Given the description of an element on the screen output the (x, y) to click on. 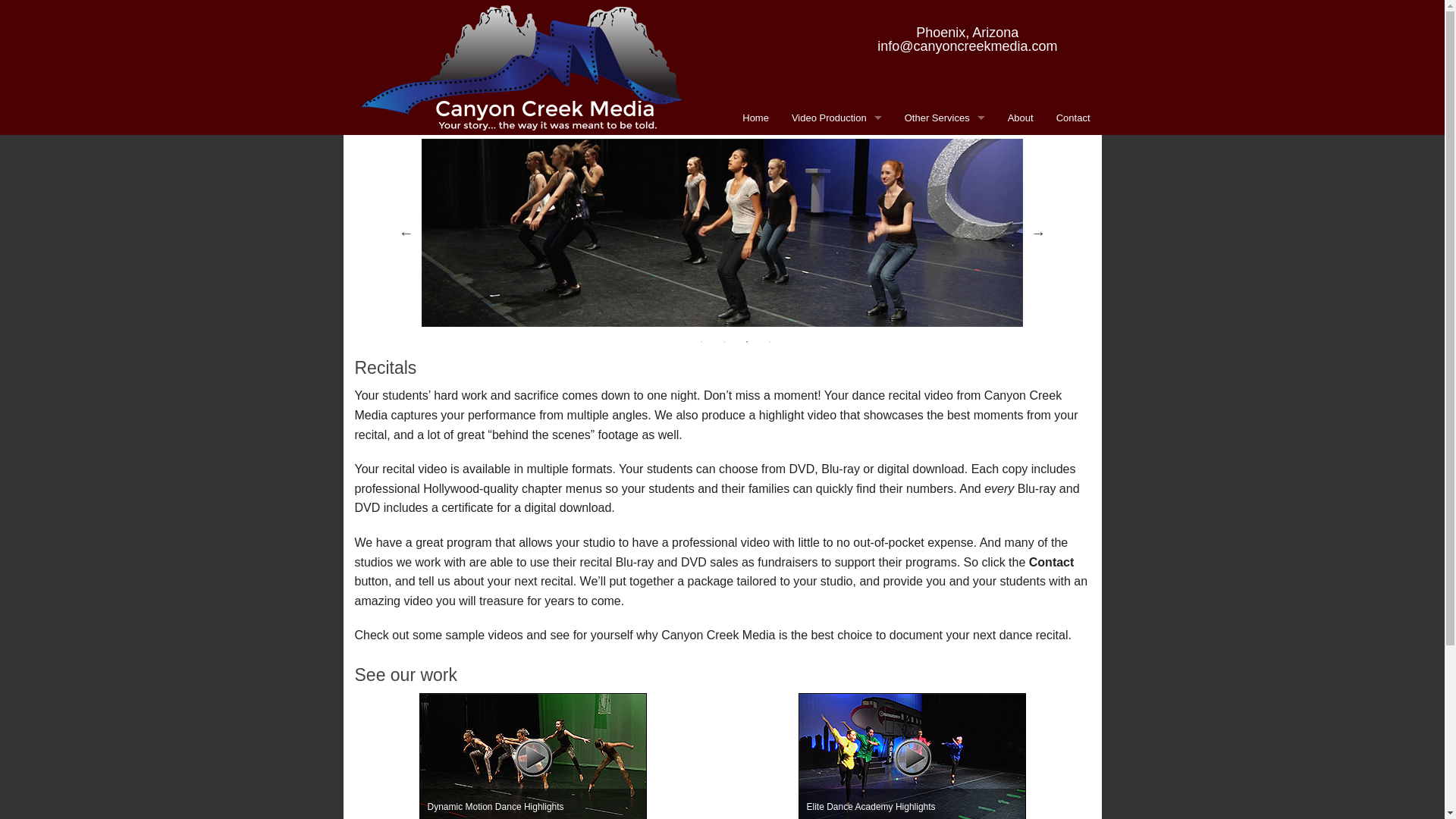
Dance Recitals (836, 185)
Dynamic Motion Dance Highlights (532, 755)
4 (769, 341)
Concerts (836, 151)
Theater (836, 254)
Contact (1051, 562)
Home (755, 117)
Previous (405, 232)
Next (1037, 232)
3 (746, 341)
Elite Dance Academy Highlights (911, 755)
Film to Video Transfer (944, 220)
Promotional Videos (836, 220)
Video Production (836, 117)
1 (701, 341)
